Given the description of an element on the screen output the (x, y) to click on. 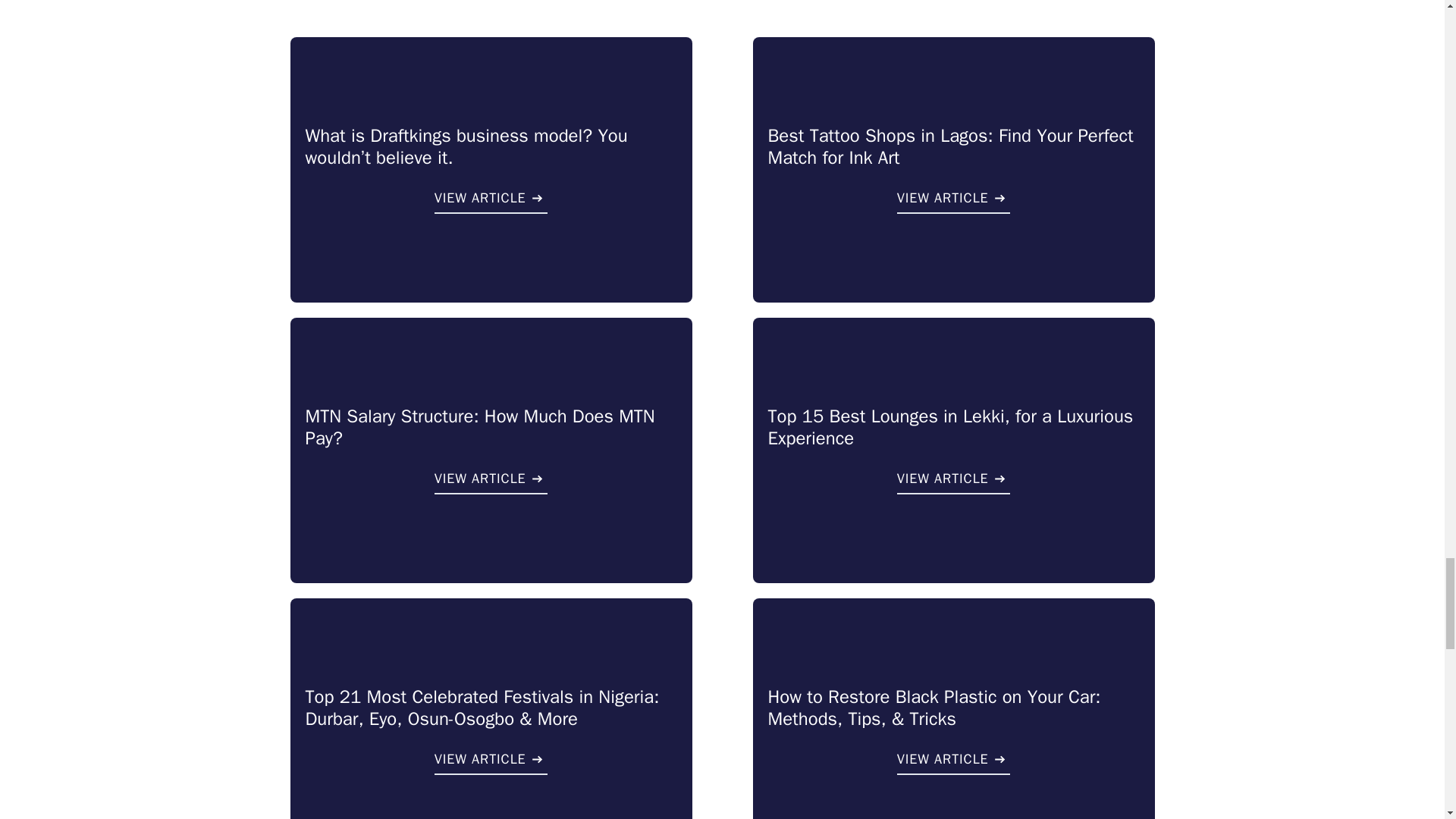
VIEW ARTICLE (953, 200)
VIEW ARTICLE (490, 200)
